Given the description of an element on the screen output the (x, y) to click on. 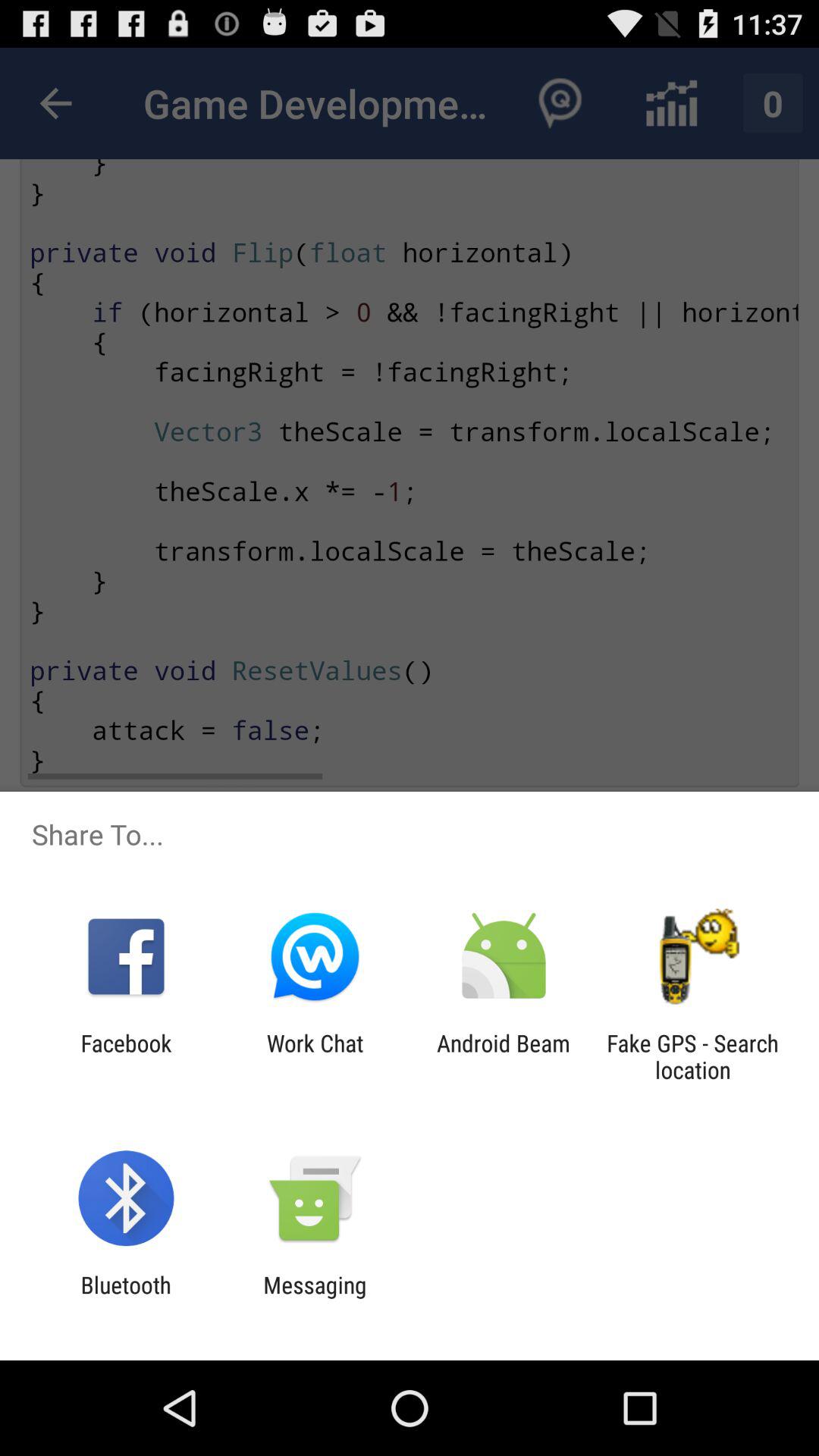
tap the icon next to the work chat item (503, 1056)
